Given the description of an element on the screen output the (x, y) to click on. 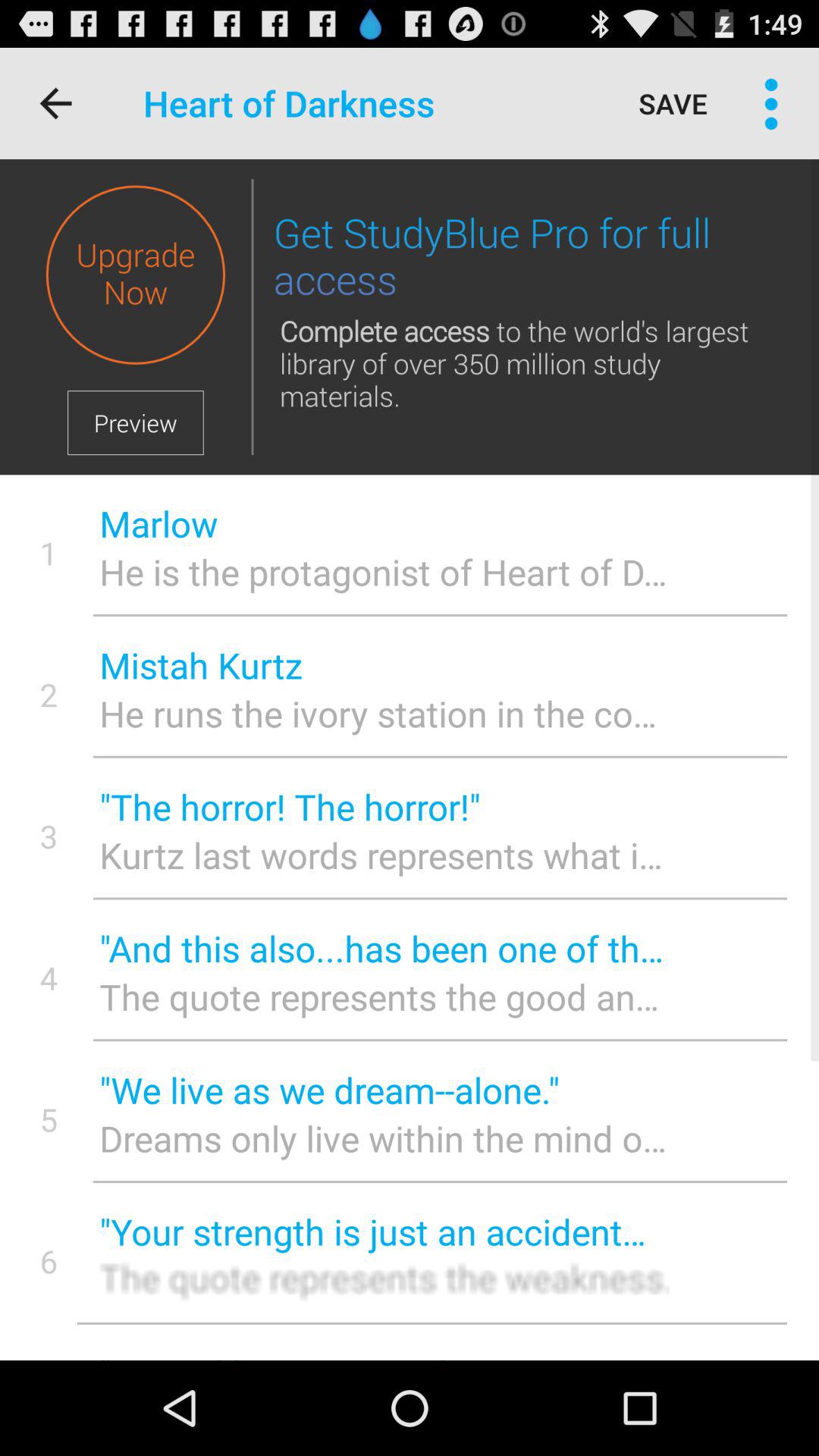
flip to and this also item (384, 948)
